Given the description of an element on the screen output the (x, y) to click on. 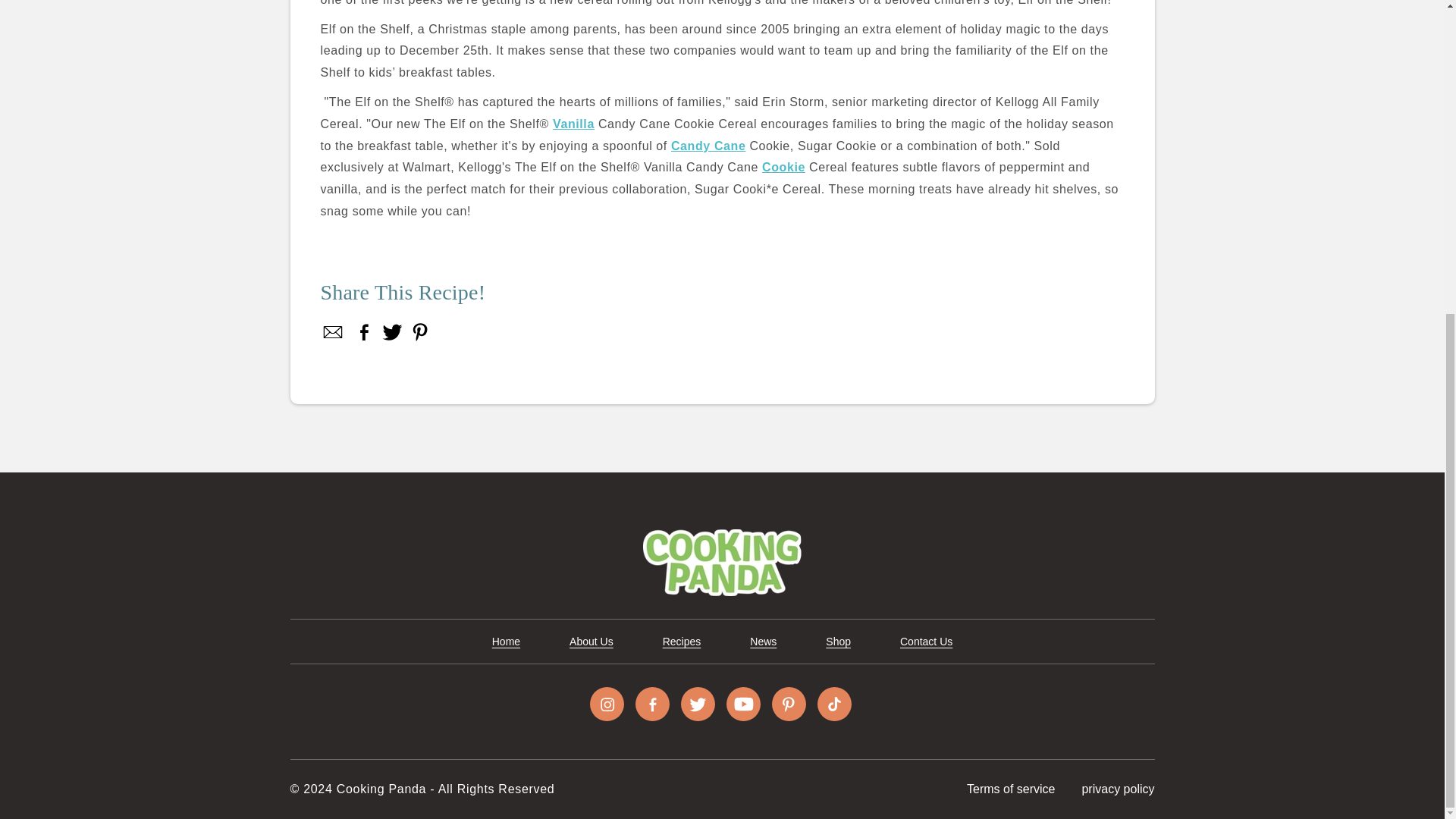
Pinterest (419, 331)
Share on Facebook (363, 331)
Candy Cane (708, 145)
Tweet on Twitter (392, 331)
Pin on Pinterest (419, 331)
Share on Facebook (333, 332)
Cookie (783, 166)
Facebook (363, 331)
Vanilla (573, 123)
Twitter (392, 331)
Share by Email (333, 332)
